Given the description of an element on the screen output the (x, y) to click on. 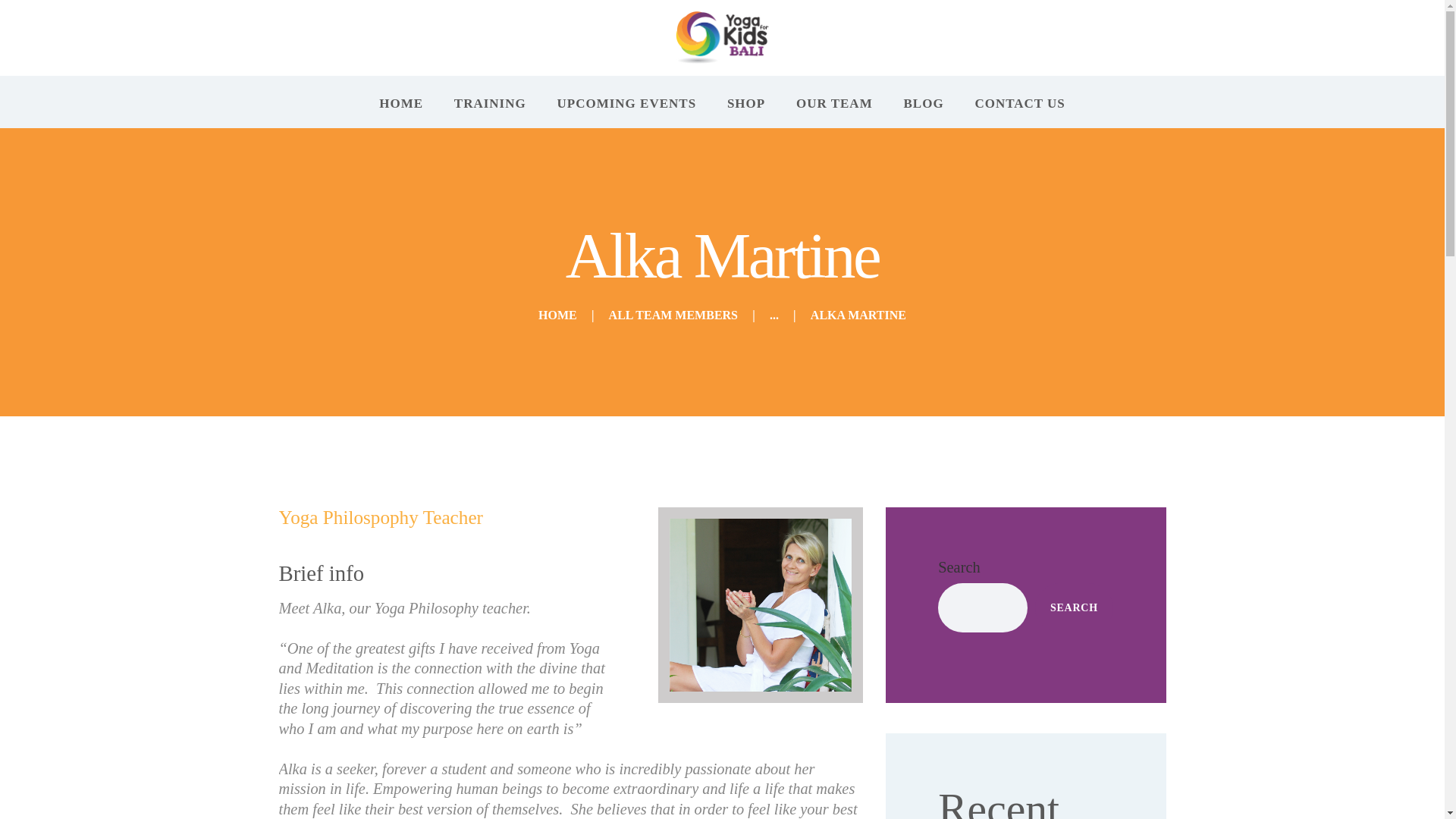
CONTACT US (1019, 103)
HOME (557, 314)
SHOP (745, 103)
HOME (401, 103)
TRAINING (489, 103)
OUR TEAM (834, 103)
ALL TEAM MEMBERS (673, 314)
UPCOMING EVENTS (626, 103)
SEARCH (1074, 607)
BLOG (923, 103)
